Given the description of an element on the screen output the (x, y) to click on. 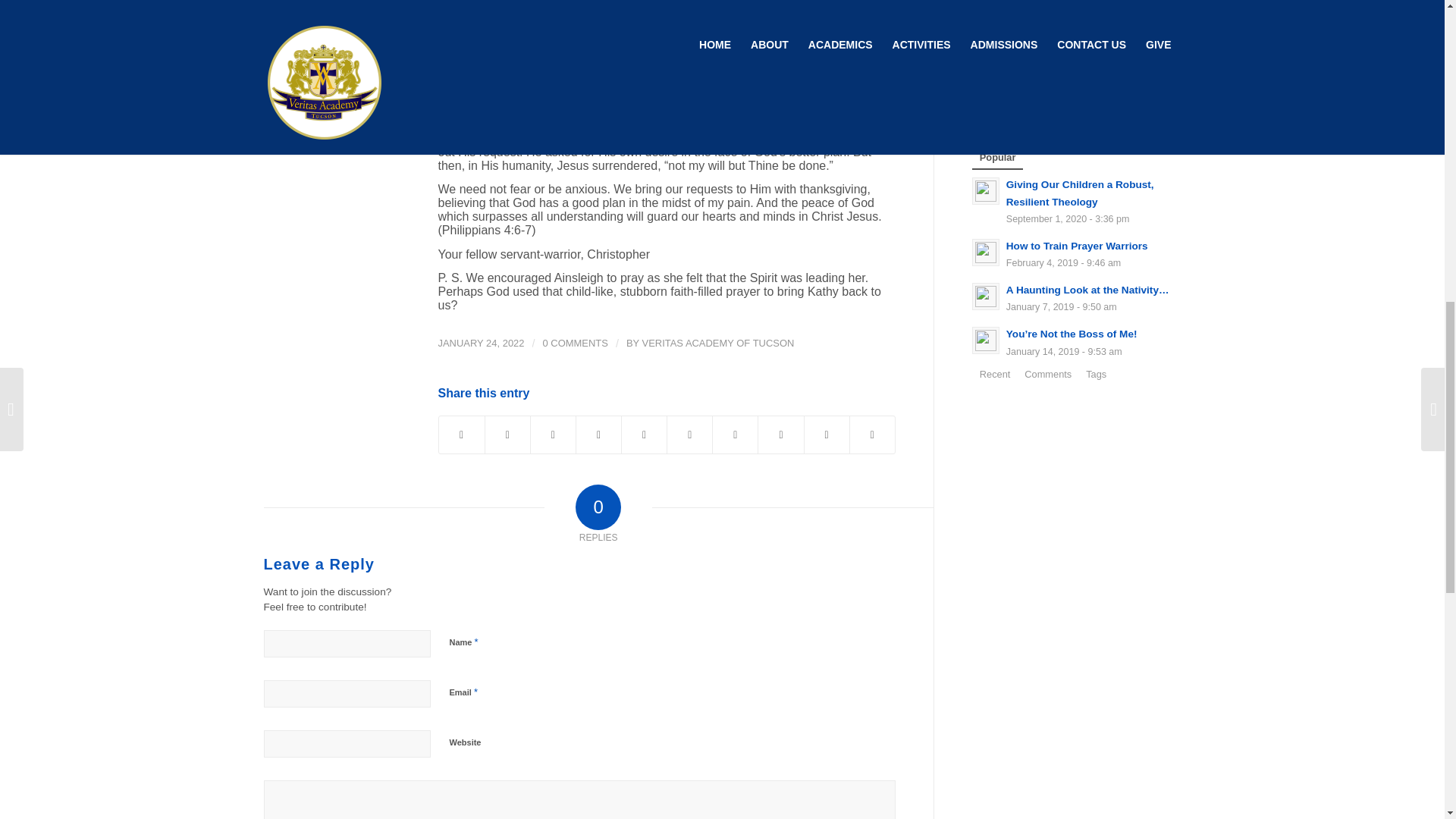
VERITAS ACADEMY OF TUCSON (718, 342)
0 COMMENTS (575, 342)
Posts by Veritas Academy of Tucson (718, 342)
